Given the description of an element on the screen output the (x, y) to click on. 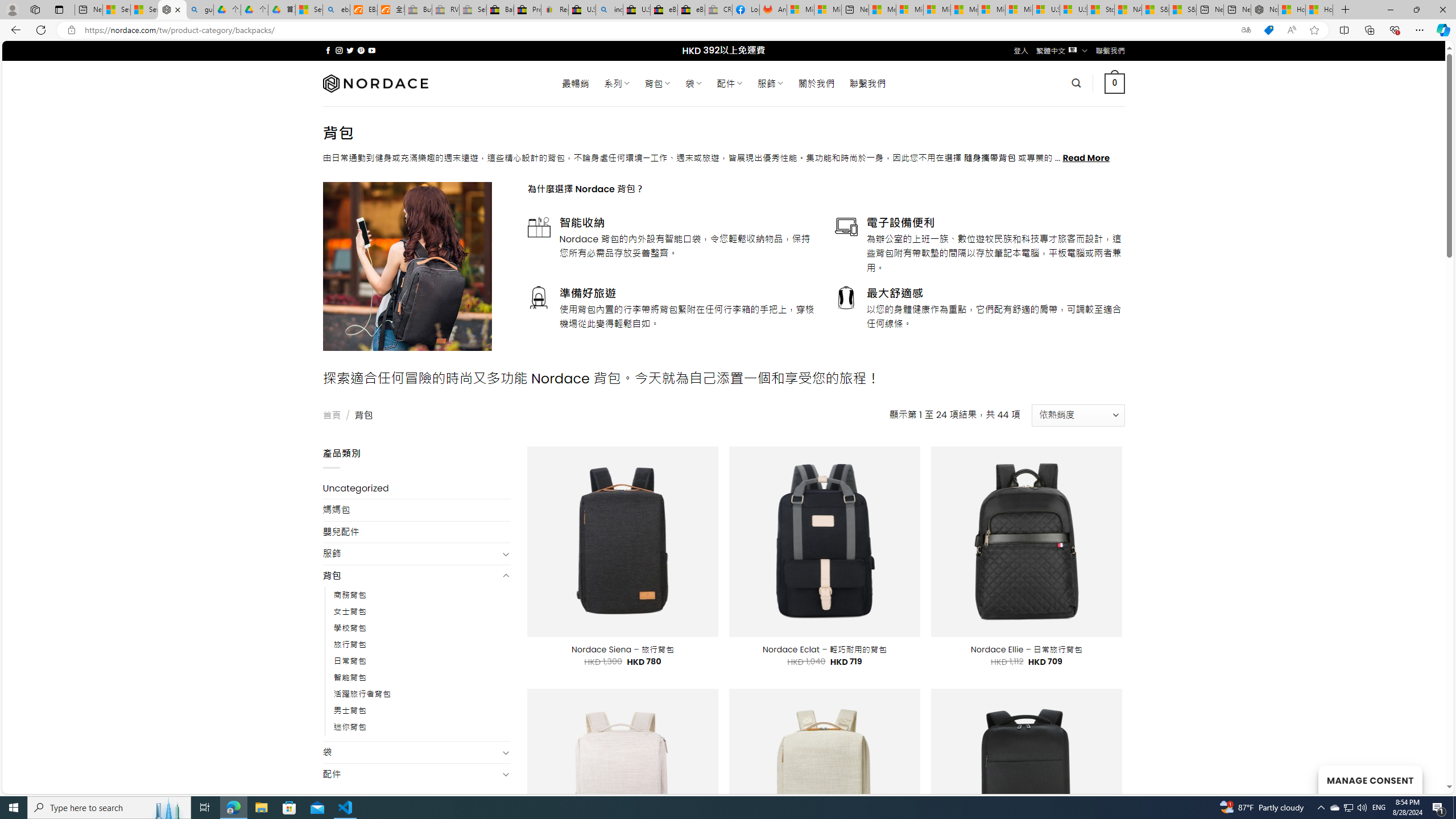
Follow on Instagram (338, 50)
